Given the description of an element on the screen output the (x, y) to click on. 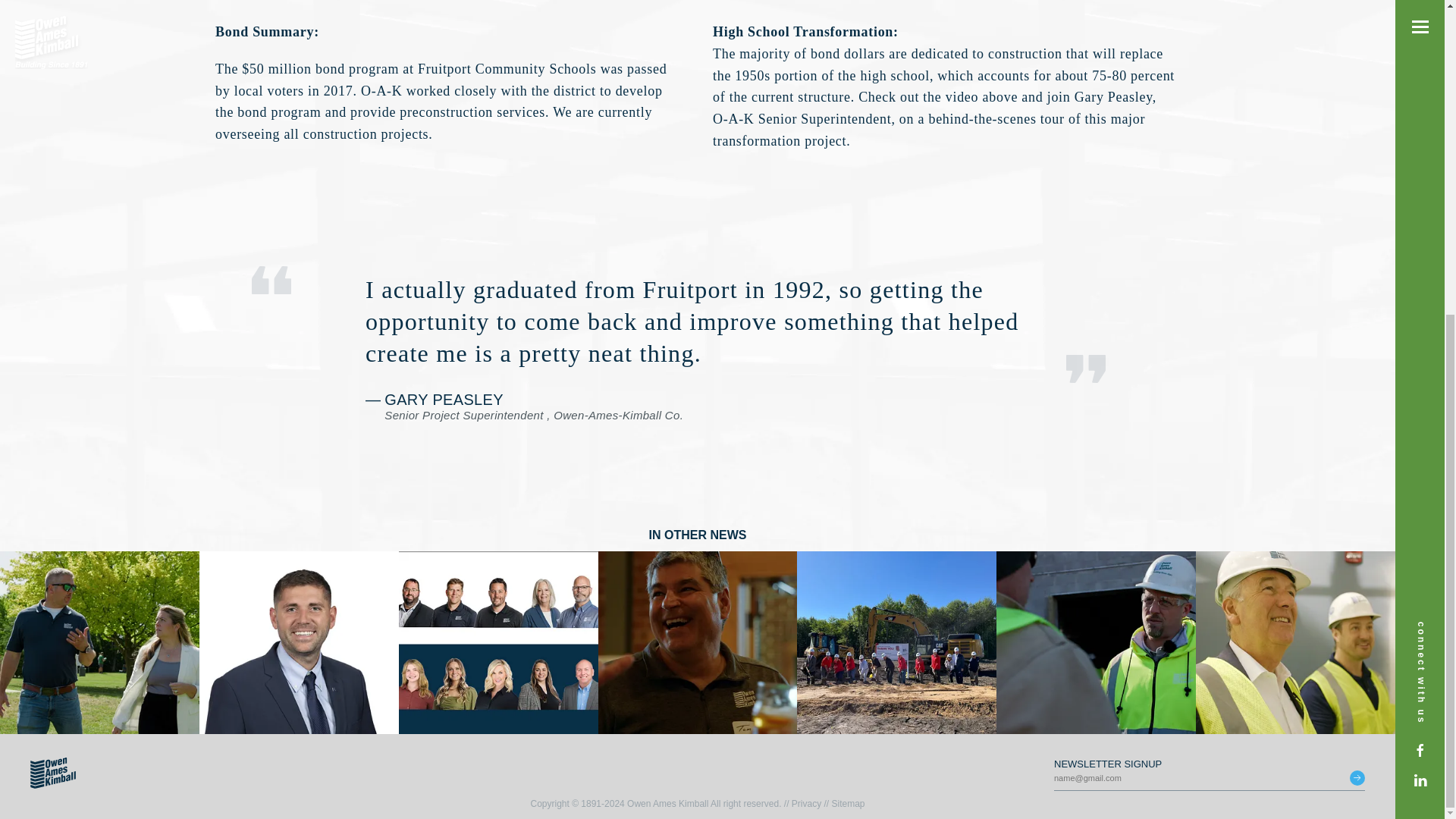
facebook (1419, 246)
linkedin (1419, 276)
